Given the description of an element on the screen output the (x, y) to click on. 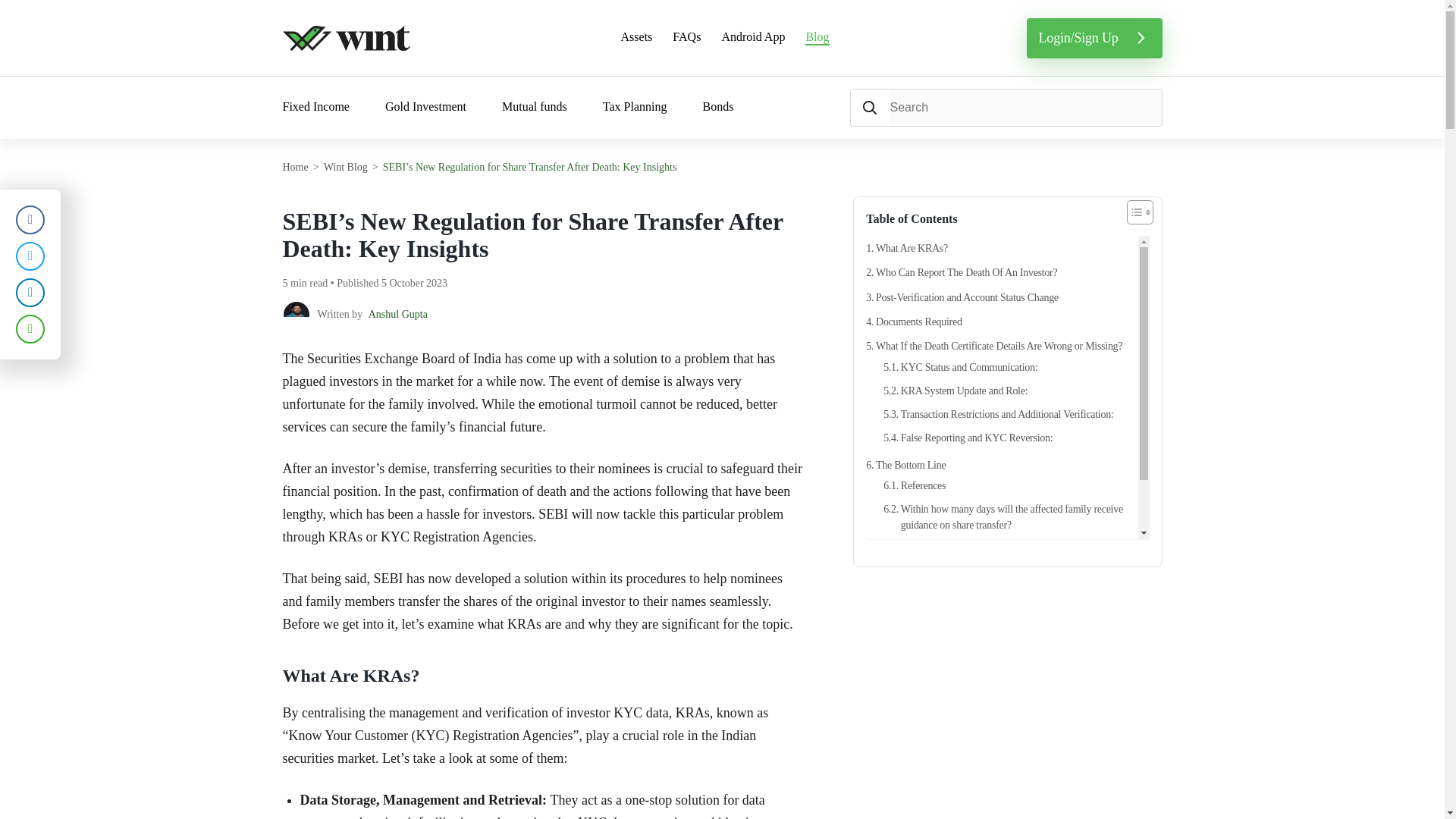
Search (869, 107)
Mutual funds (534, 107)
Wint Blog (345, 166)
Android App (752, 37)
Blog (816, 37)
Search (869, 107)
Search (869, 107)
Gold Investment (425, 107)
FAQs (686, 37)
Assets (636, 37)
